Given the description of an element on the screen output the (x, y) to click on. 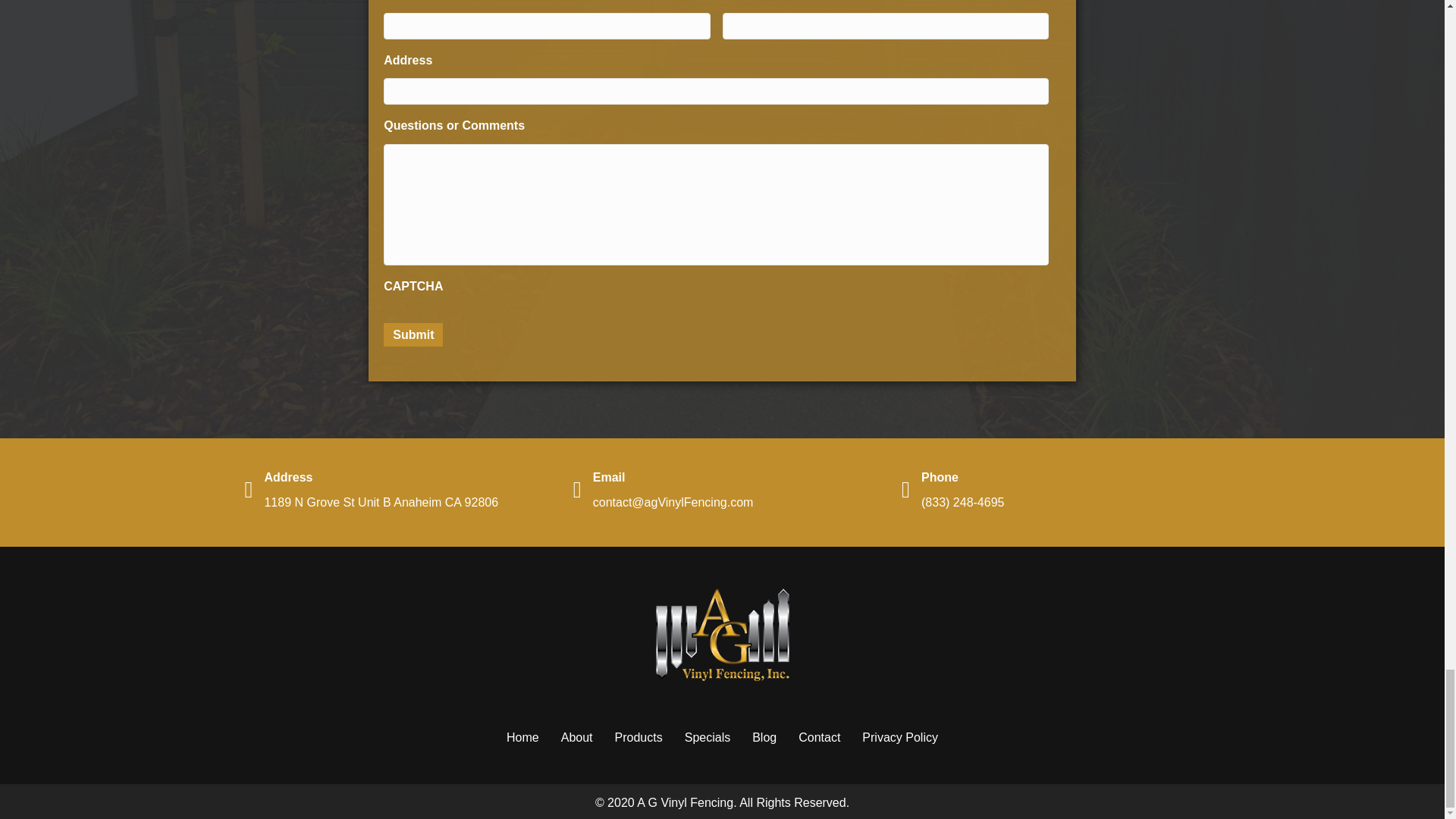
Submit (413, 334)
